Given the description of an element on the screen output the (x, y) to click on. 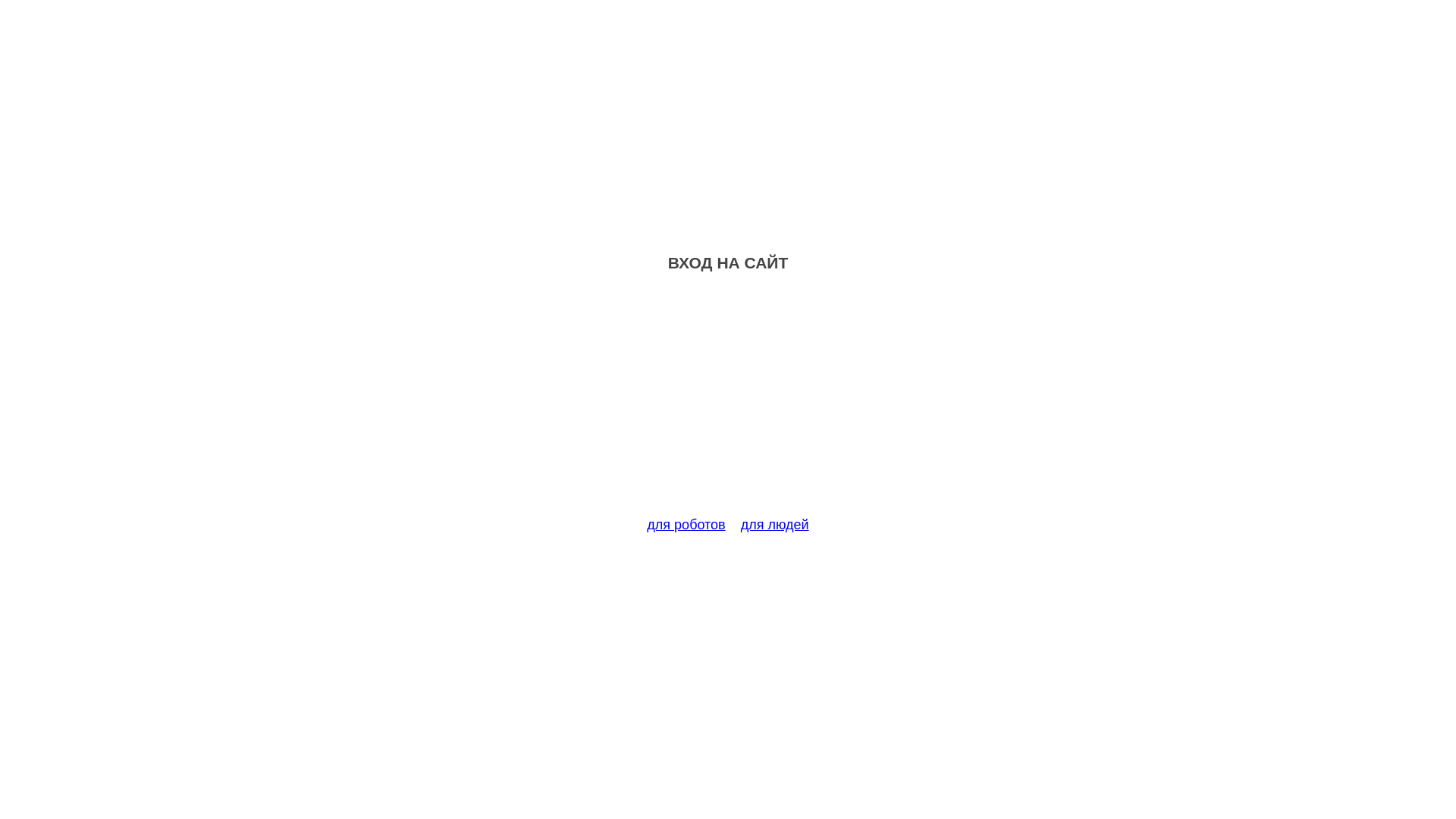
Advertisement Element type: hover (727, 403)
